Given the description of an element on the screen output the (x, y) to click on. 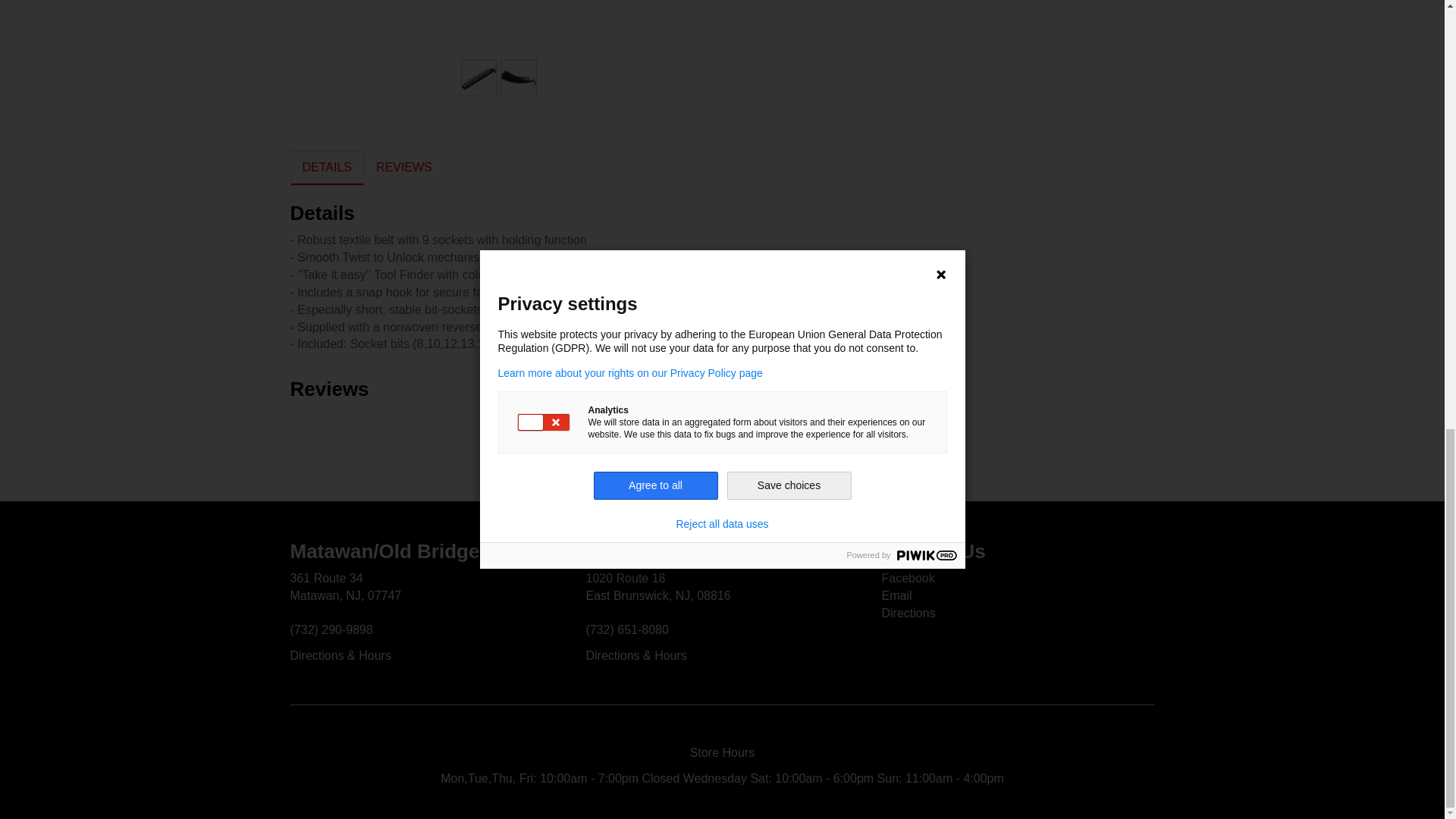
Write the First Review (721, 422)
REVIEWS (404, 167)
DETAILS (326, 167)
